Given the description of an element on the screen output the (x, y) to click on. 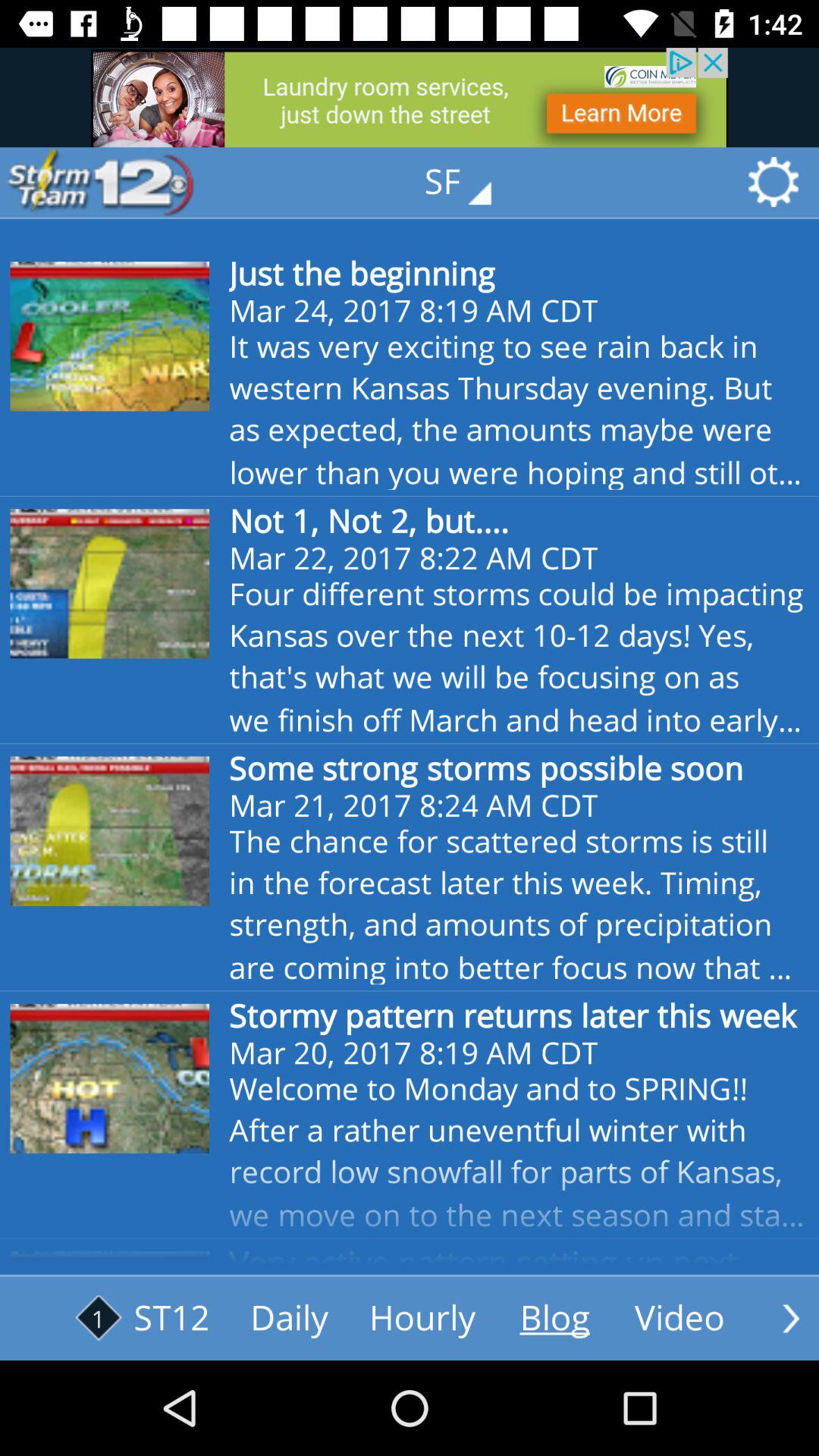
click on text on right side of text st12 (289, 1318)
select the text which is above the text just the beginning (469, 181)
it is clickable (679, 1318)
